Given the description of an element on the screen output the (x, y) to click on. 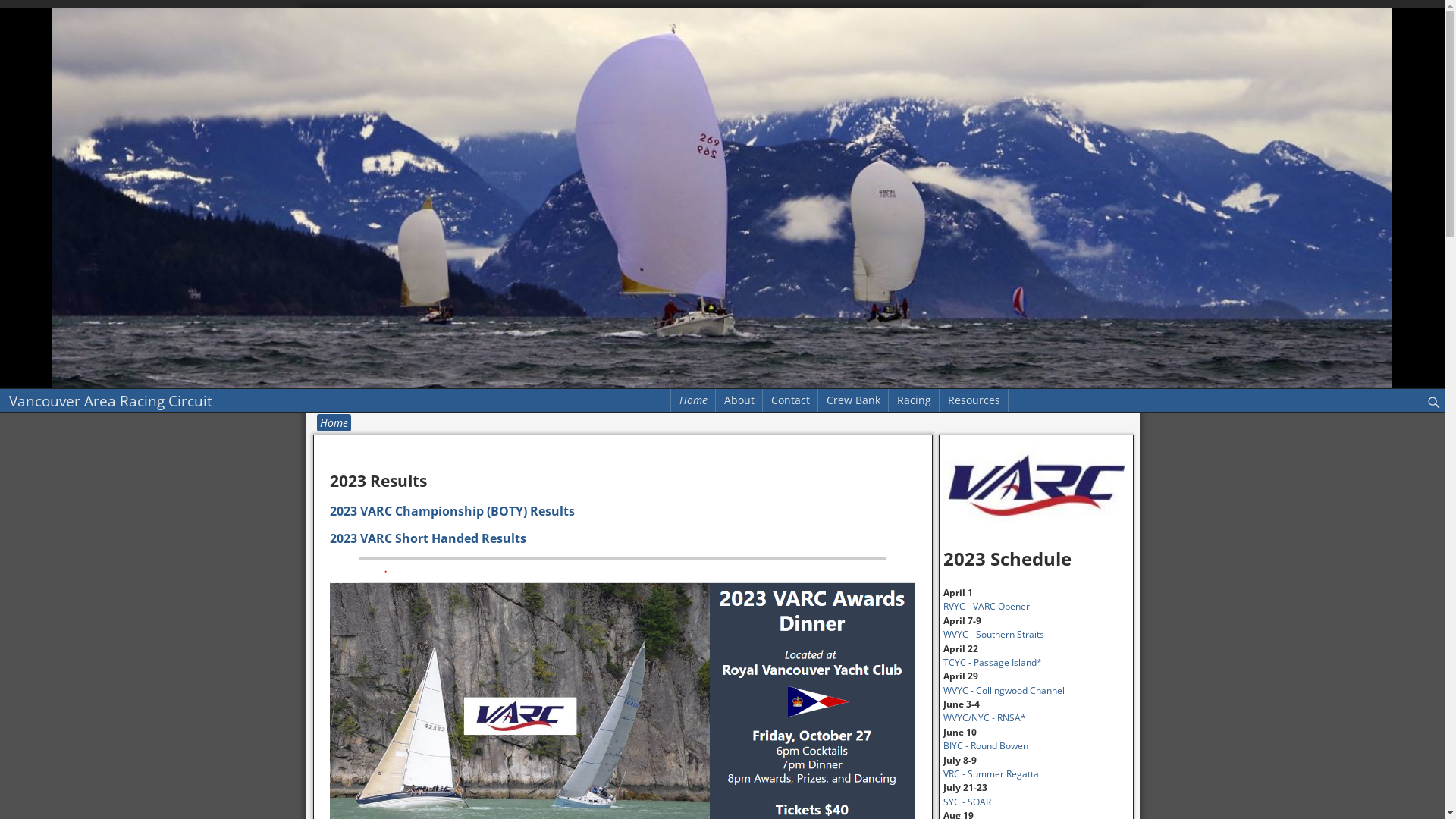
Vancouver Area Racing Circuit Element type: text (110, 400)
Contact Element type: text (790, 400)
Resources Element type: text (973, 400)
About Element type: text (738, 400)
RVYC - VARC Opener Element type: text (986, 605)
TCYC - Passage Island* Element type: text (992, 661)
WVYC - Southern Straits Element type: text (993, 633)
Crew Bank Element type: text (853, 400)
VRC - Summer Regatta Element type: text (990, 773)
BIYC - Round Bowen Element type: text (985, 745)
2023 VARC Short Handed Results Element type: text (427, 538)
Home Element type: text (693, 400)
Racing Element type: text (913, 400)
2023 VARC Championship (BOTY) Results Element type: text (451, 510)
WVYC/NYC - RNSA* Element type: text (984, 717)
WVYC - Collingwood Channel Element type: text (1003, 690)
SYC - SOAR Element type: text (967, 801)
